Given the description of an element on the screen output the (x, y) to click on. 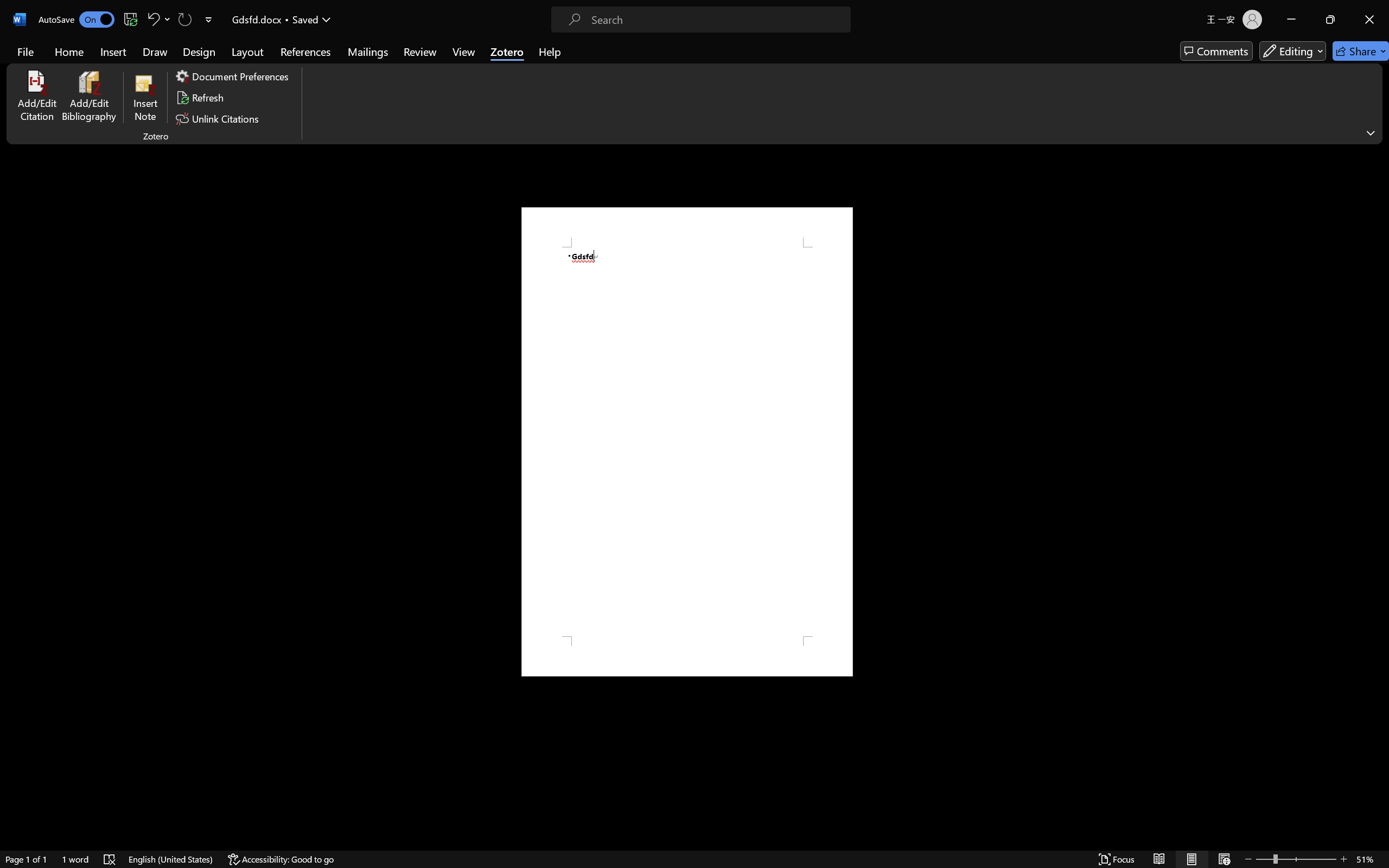
Start (13, 855)
Percent (722, 391)
Notification Chevron (1261, 855)
Translator (1377, 132)
Preview (16, 62)
Microsoft Edge (1299, 855)
Context help (222, 855)
